Given the description of an element on the screen output the (x, y) to click on. 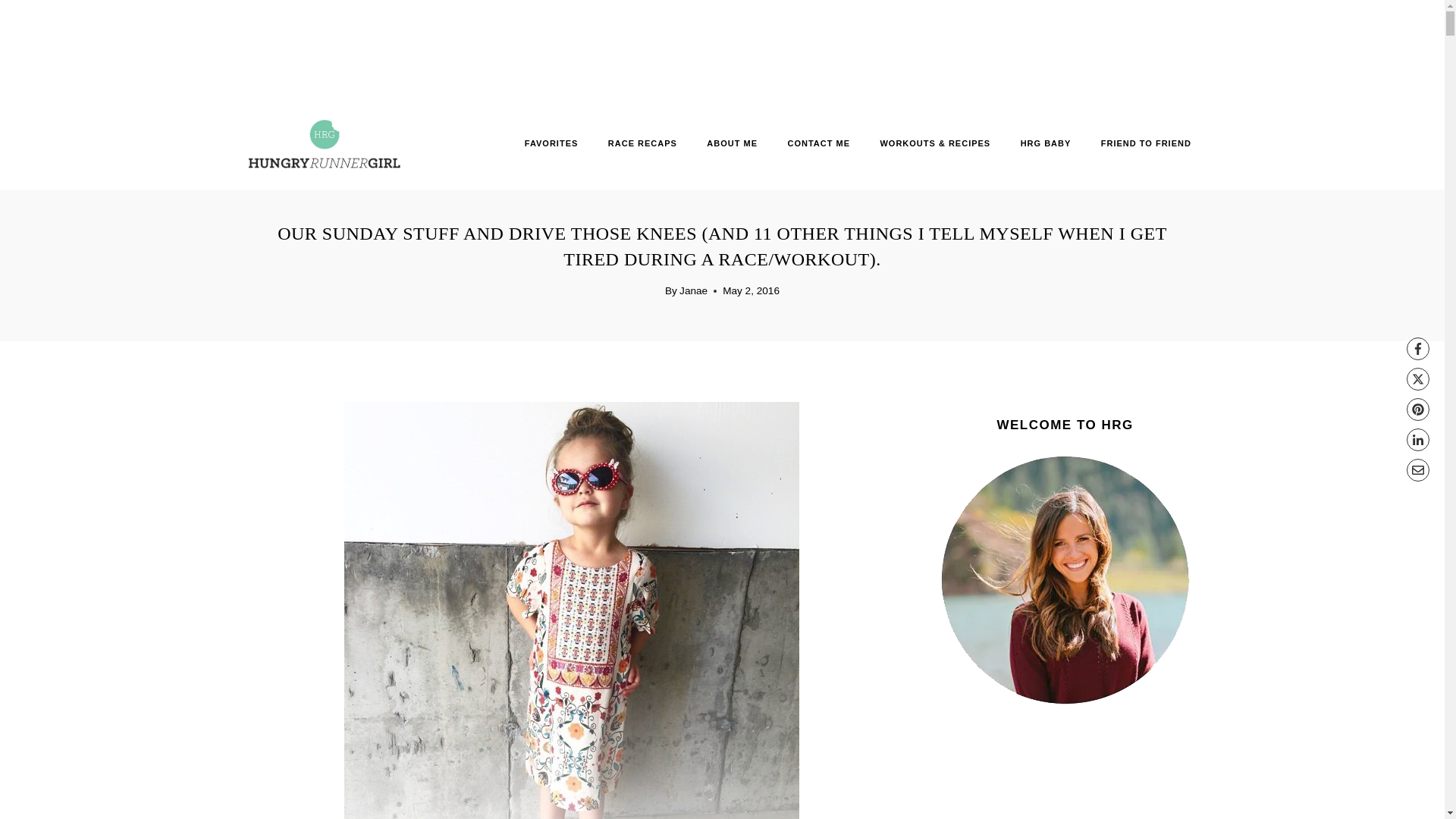
Janae (693, 290)
RACE RECAPS (641, 143)
FAVORITES (551, 143)
HRG BABY (1044, 143)
FRIEND TO FRIEND (1145, 143)
CONTACT ME (819, 143)
ABOUT ME (731, 143)
